Given the description of an element on the screen output the (x, y) to click on. 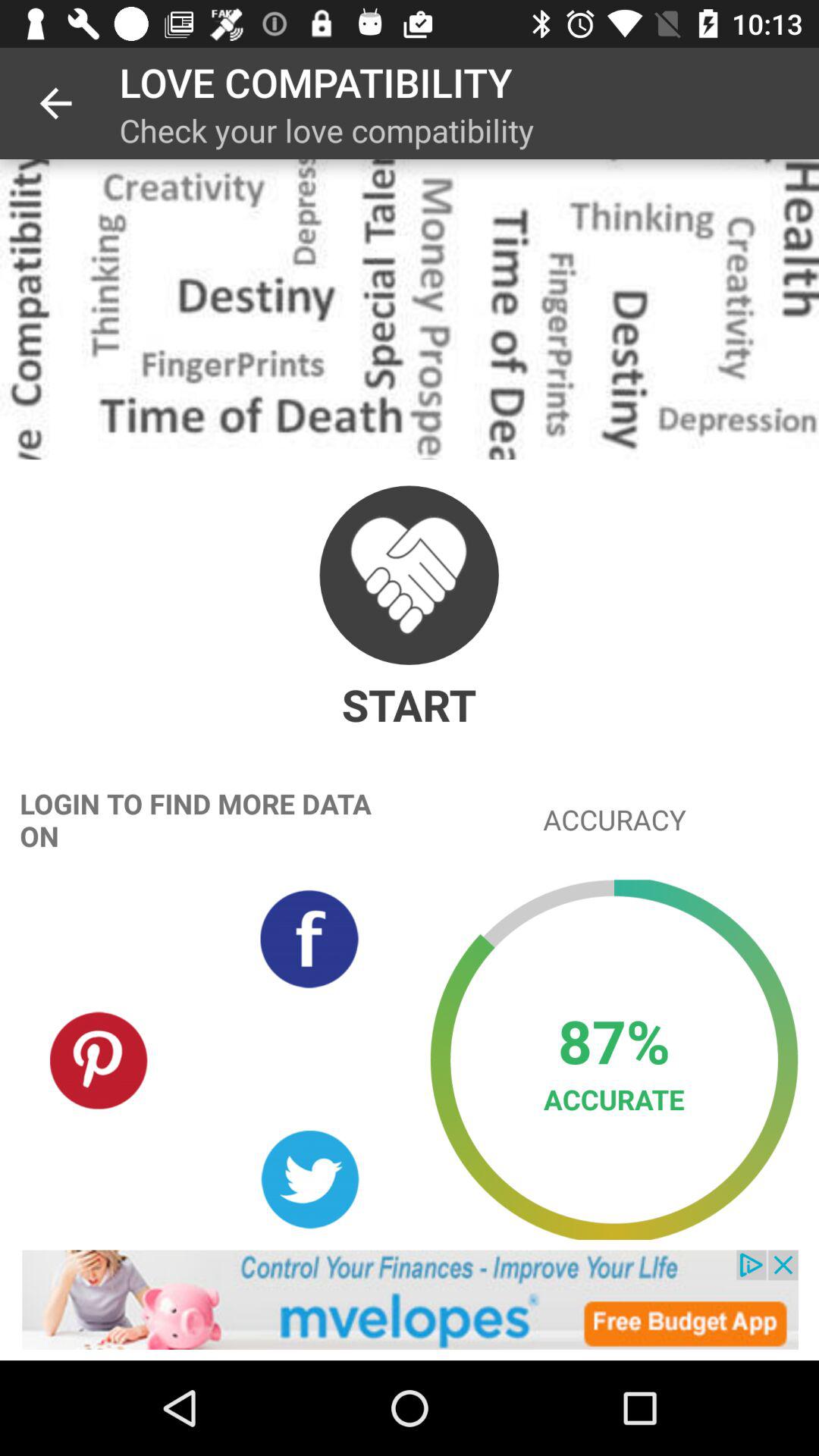
open twitter (309, 1179)
